Given the description of an element on the screen output the (x, y) to click on. 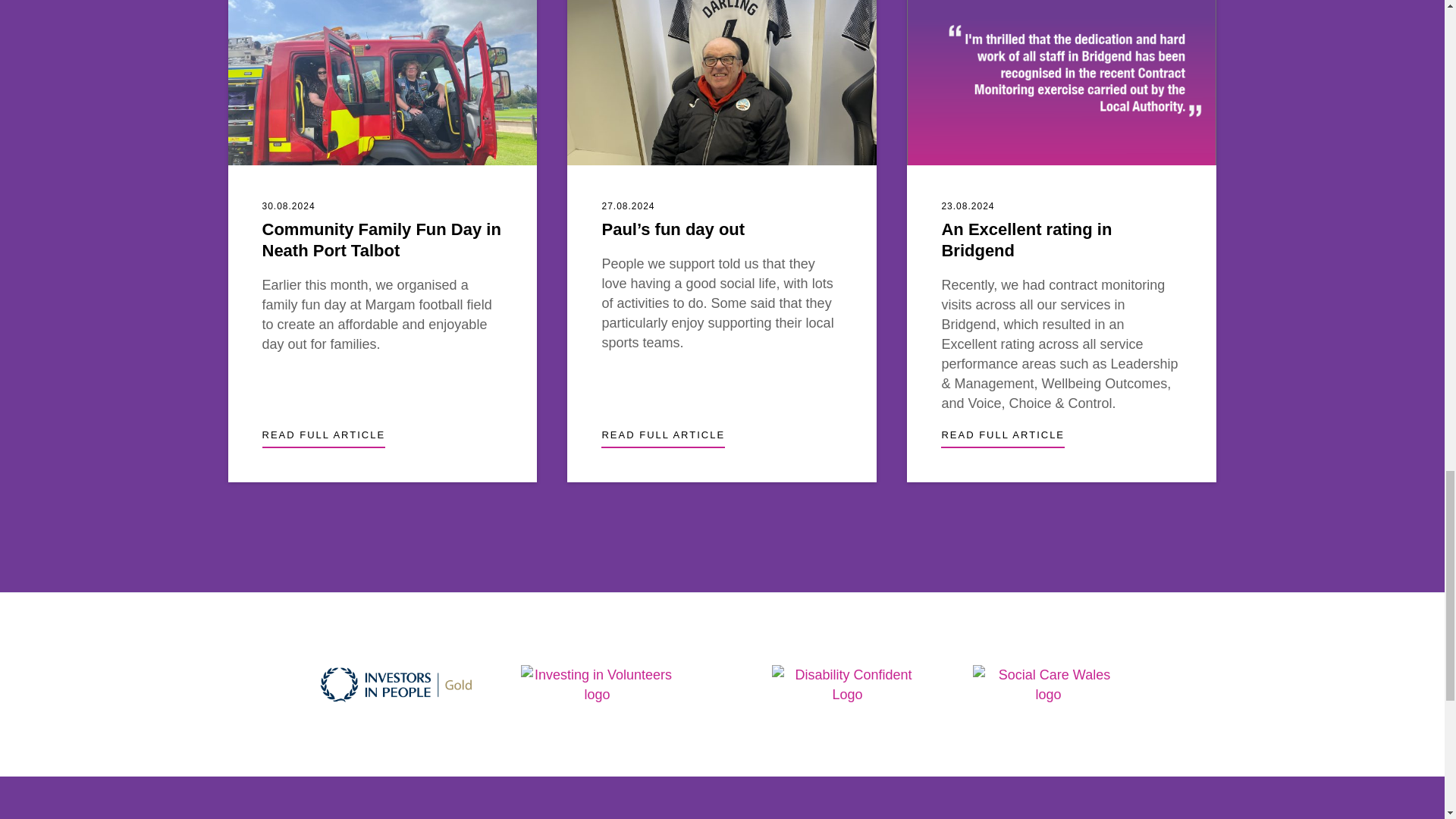
View - An Excellent rating in Bridgend (1002, 436)
View - An Excellent rating in Bridgend (1026, 240)
View - An Excellent rating in Bridgend (1061, 82)
View - Community Family Fun Day in Neath Port Talbot (323, 436)
View - Community Family Fun Day in Neath Port Talbot (382, 82)
View - Community Family Fun Day in Neath Port Talbot (381, 240)
